Given the description of an element on the screen output the (x, y) to click on. 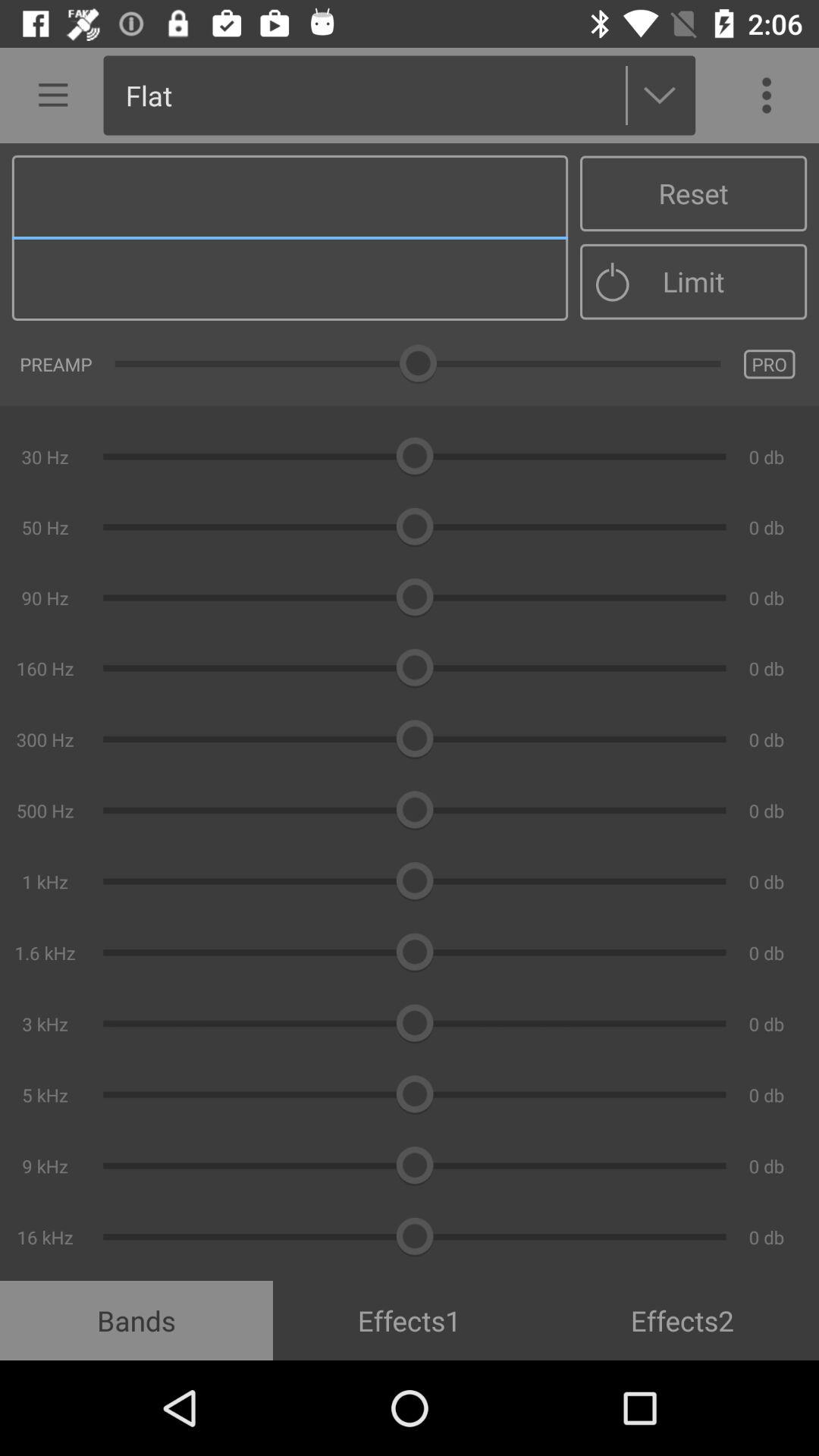
tap the item above the bands (409, 711)
